Given the description of an element on the screen output the (x, y) to click on. 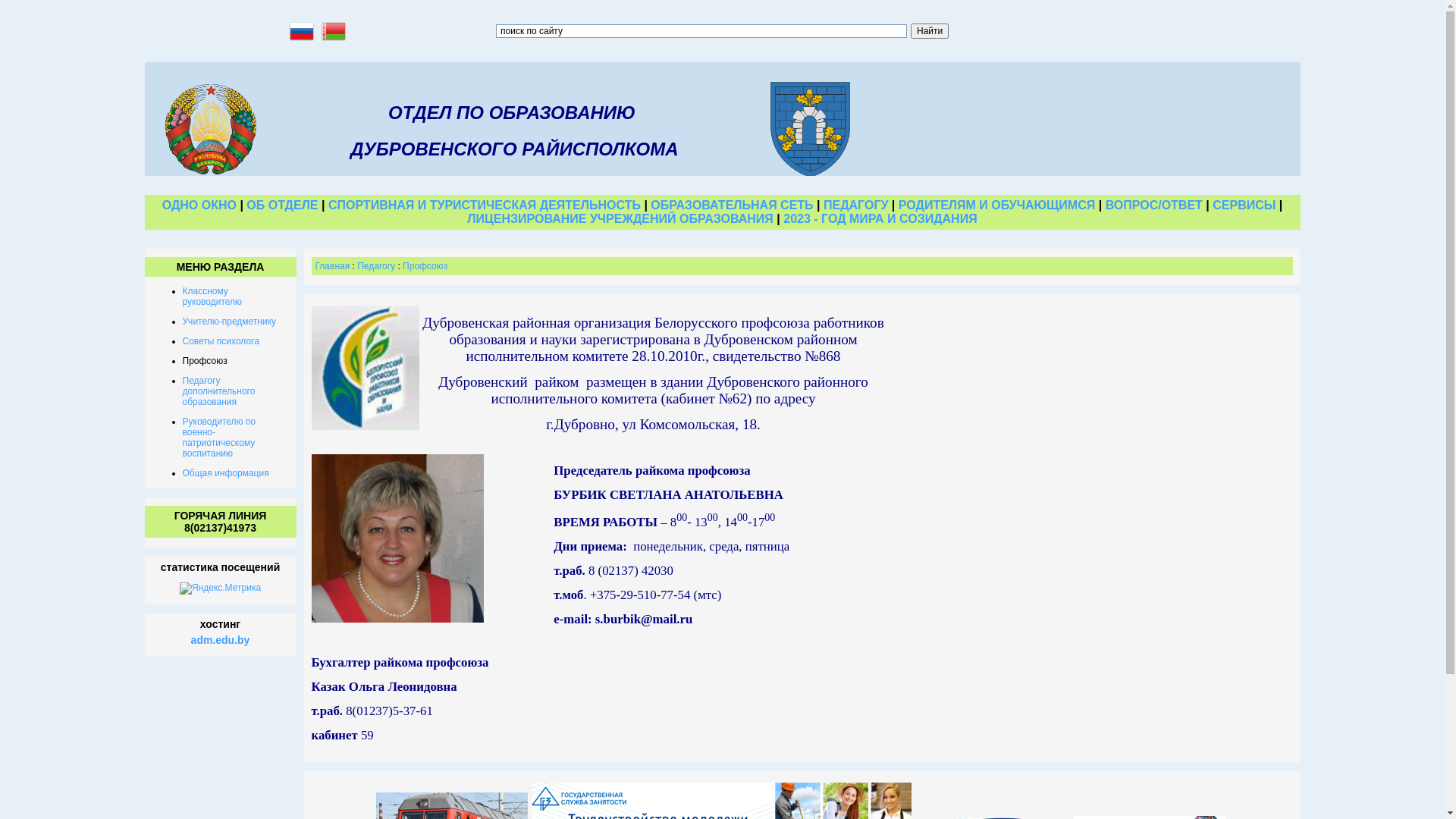
adm.edu.by Element type: text (220, 639)
